Given the description of an element on the screen output the (x, y) to click on. 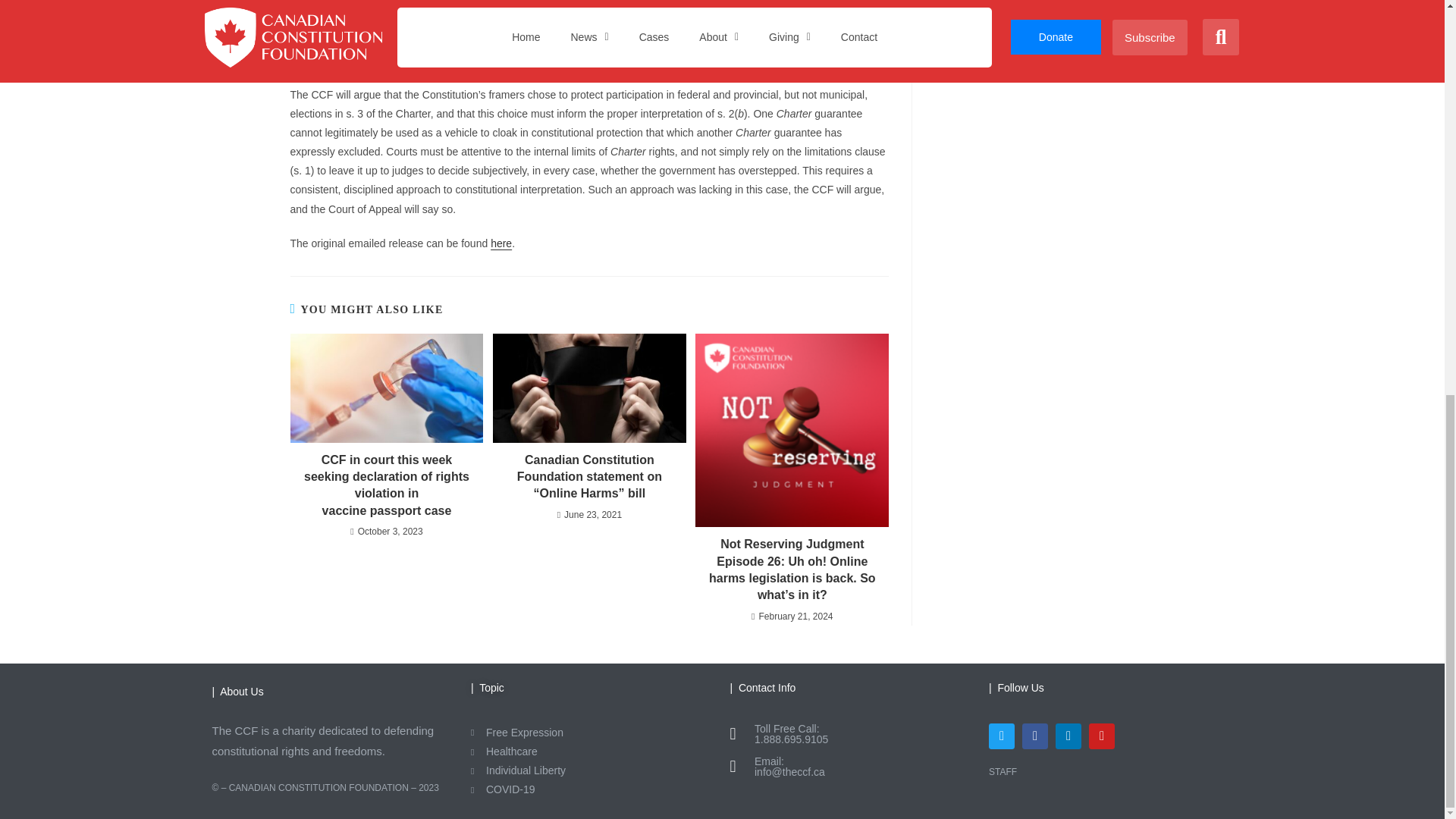
Search (971, 10)
Reset (1041, 10)
